Given the description of an element on the screen output the (x, y) to click on. 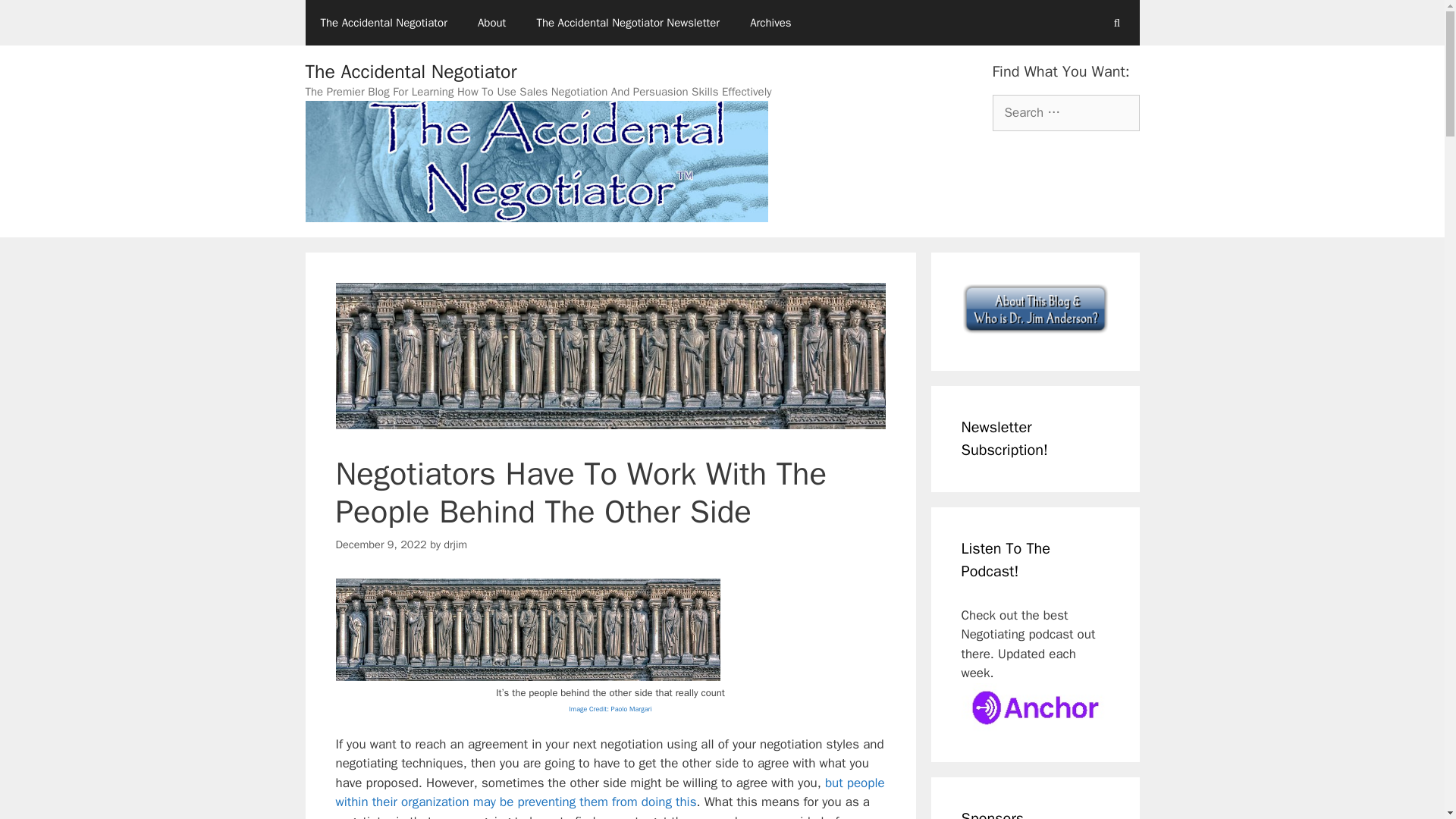
Search for: (1064, 113)
Search (35, 18)
 How Committed Is The Other Side To This Negotiation?  (608, 792)
About (492, 22)
drjim (455, 544)
Archives (770, 22)
The Accidental Negotiator Newsletter (628, 22)
Image Credit: Paolo Margari (609, 707)
View all posts by drjim (455, 544)
The Accidental Negotiator (410, 71)
The Accidental Negotiator (382, 22)
